Given the description of an element on the screen output the (x, y) to click on. 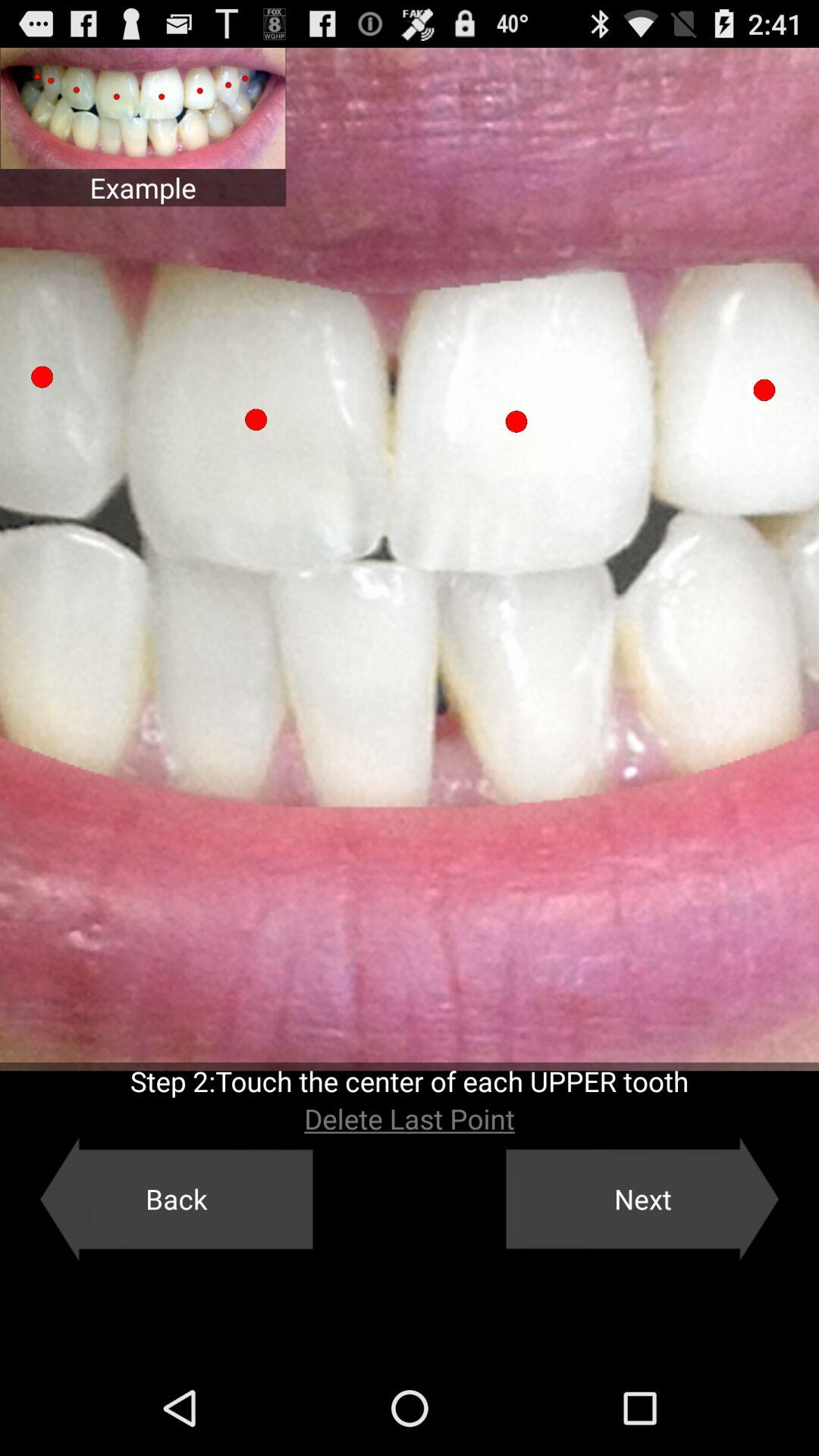
jump until the delete last point app (409, 1118)
